Given the description of an element on the screen output the (x, y) to click on. 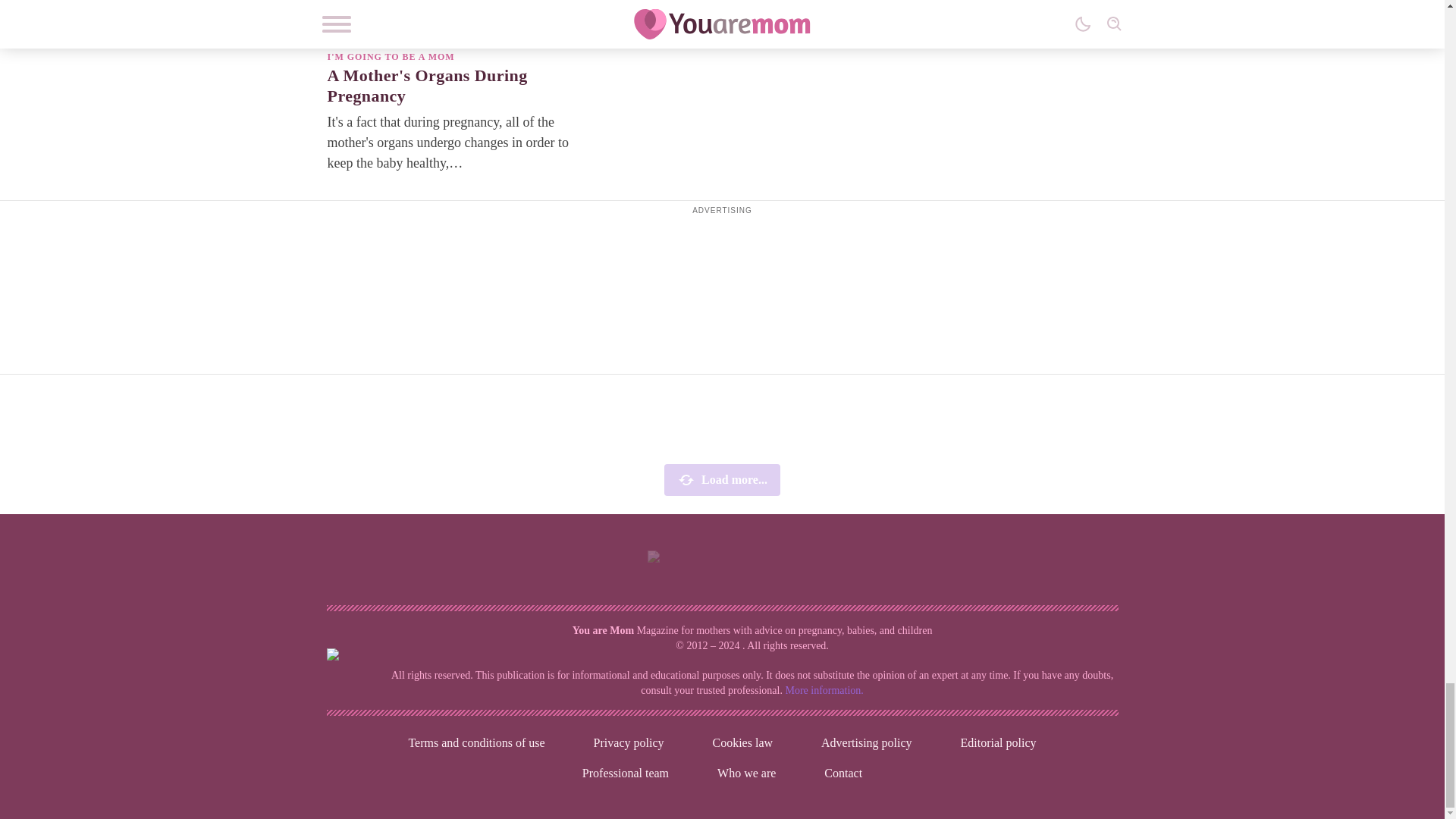
More information. (823, 690)
Cookies law (742, 743)
Load more... (721, 480)
Advertising policy (866, 743)
Privacy policy (628, 743)
Terms and conditions of use (475, 743)
